Given the description of an element on the screen output the (x, y) to click on. 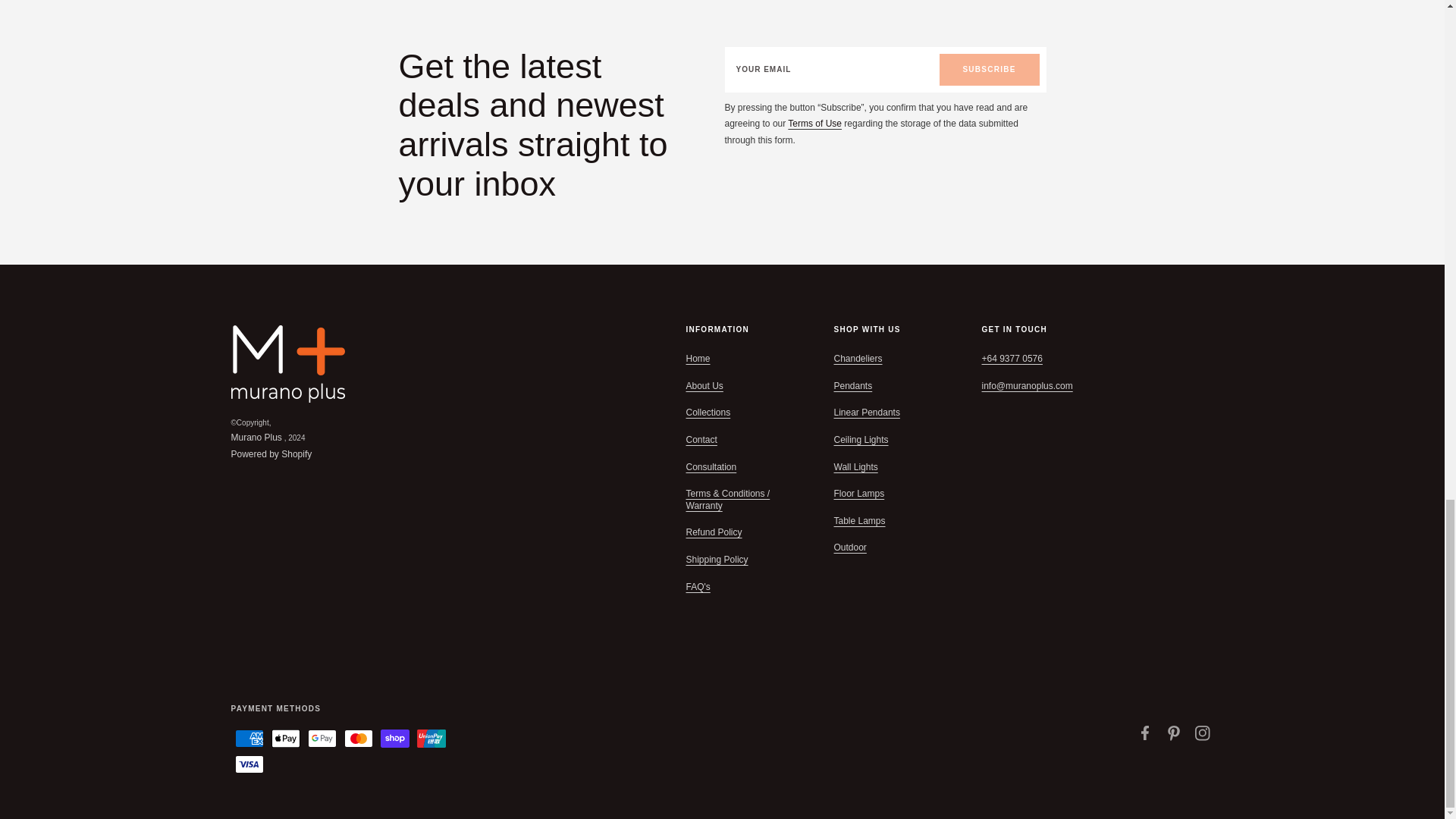
All products (814, 122)
